Given the description of an element on the screen output the (x, y) to click on. 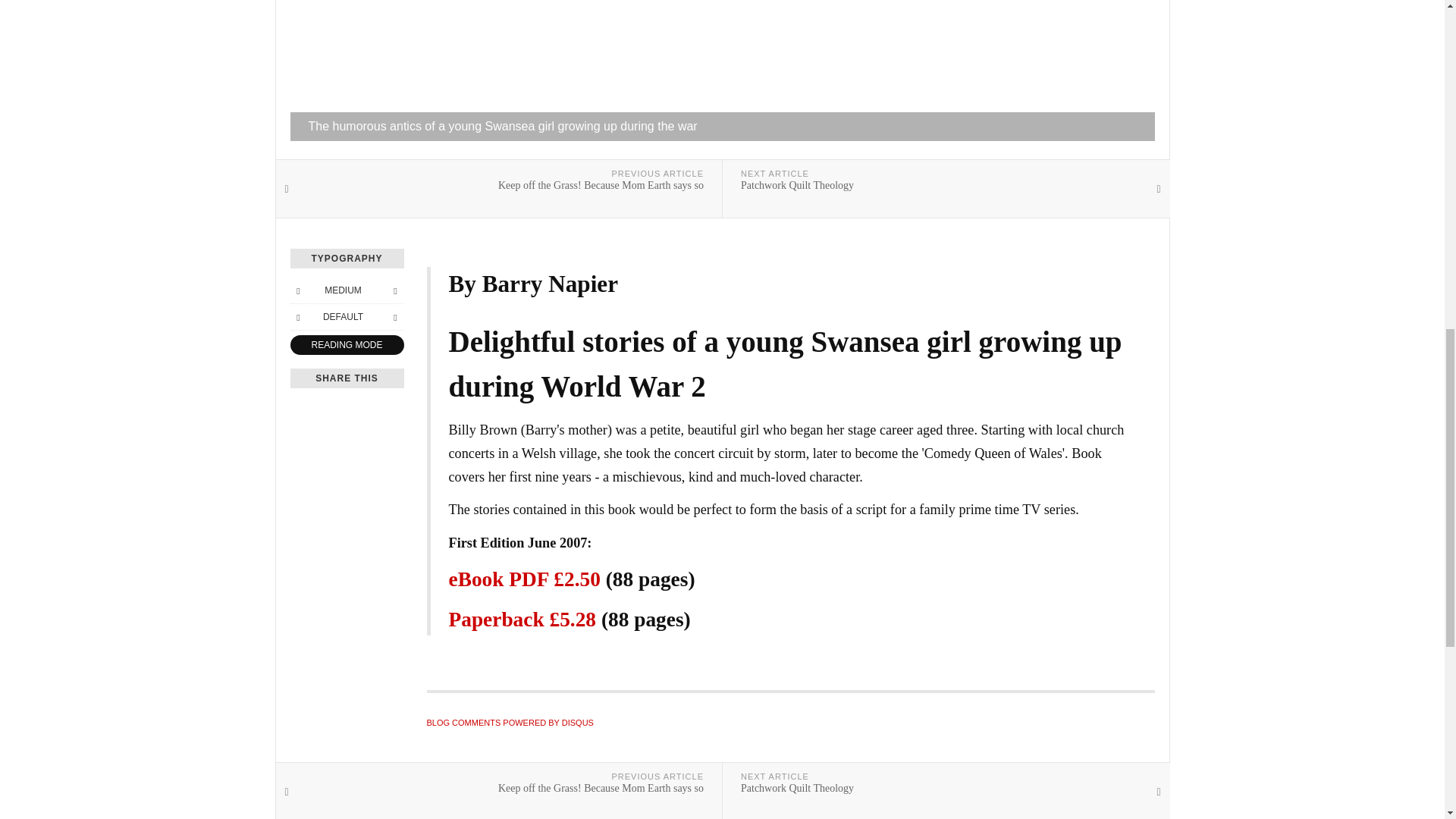
Little  Billy Brown - Softback edition (522, 619)
Previous Font Style (297, 316)
Reading Mode (346, 344)
Next Font Style (395, 316)
Smaller Font (297, 289)
Little Billy Brown - eBook edition (523, 579)
Bigger Font (395, 289)
